Given the description of an element on the screen output the (x, y) to click on. 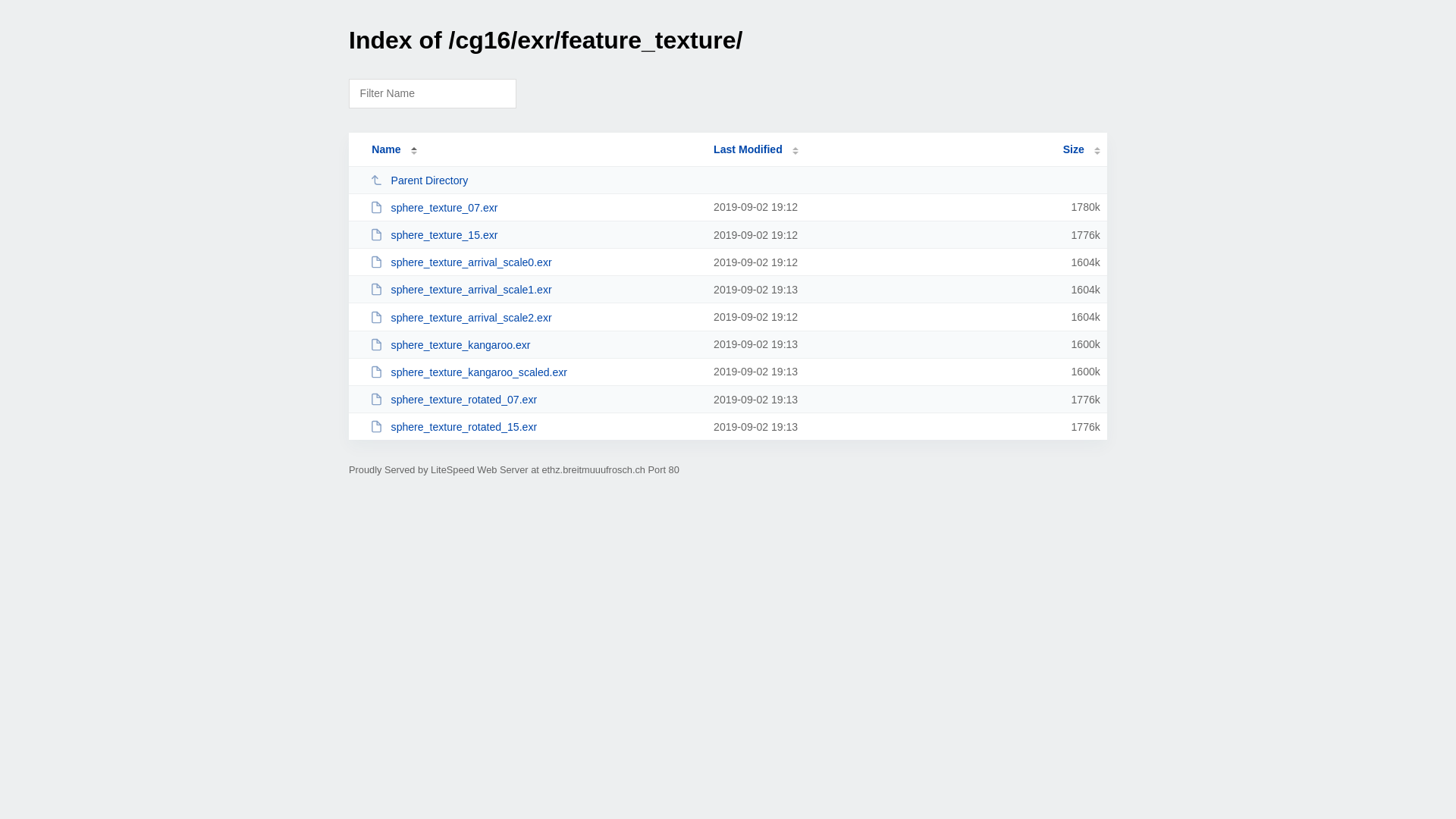
Parent Directory Element type: text (534, 179)
sphere_texture_rotated_15.exr Element type: text (534, 426)
sphere_texture_arrival_scale0.exr Element type: text (534, 261)
Name Element type: text (385, 149)
sphere_texture_kangaroo_scaled.exr Element type: text (534, 371)
sphere_texture_rotated_07.exr Element type: text (534, 398)
sphere_texture_07.exr Element type: text (534, 206)
Last Modified Element type: text (755, 149)
sphere_texture_arrival_scale2.exr Element type: text (534, 316)
Size Element type: text (1081, 149)
sphere_texture_15.exr Element type: text (534, 234)
sphere_texture_kangaroo.exr Element type: text (534, 344)
sphere_texture_arrival_scale1.exr Element type: text (534, 288)
